Given the description of an element on the screen output the (x, y) to click on. 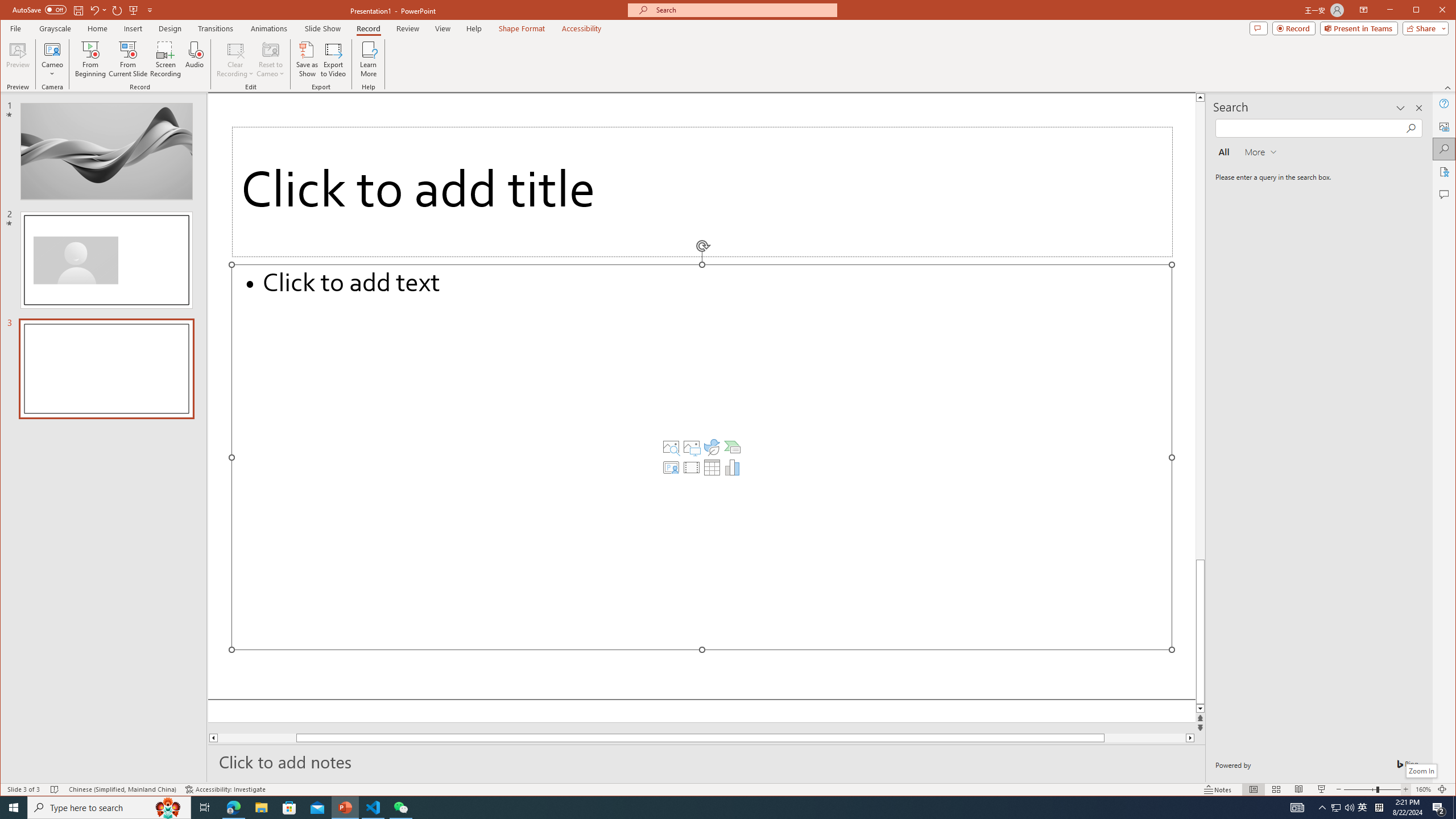
Tray Input Indicator - Chinese (Simplified, China) (1378, 807)
Insert (133, 28)
Customize Quick Access Toolbar (150, 9)
Save as Show (307, 59)
Audio (194, 59)
Page down (1162, 737)
Review (407, 28)
More Options (52, 69)
Zoom (1371, 789)
User Promoted Notification Area (1342, 807)
Q2790: 100% (1349, 807)
Action Center, 2 new notifications (1439, 807)
Slide Notes (706, 761)
Accessibility (1444, 171)
PowerPoint - 1 running window (345, 807)
